Given the description of an element on the screen output the (x, y) to click on. 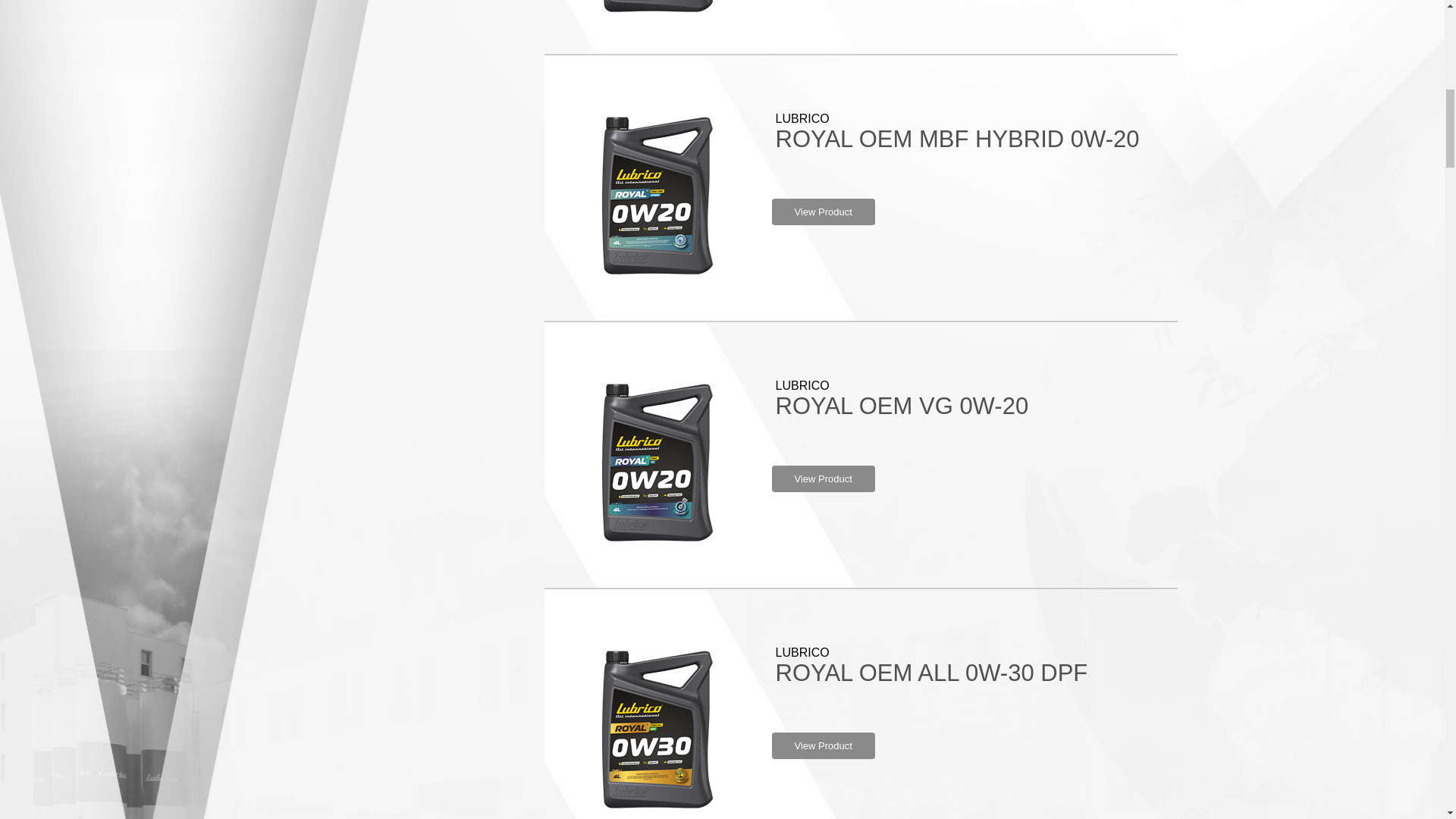
View Product (823, 212)
ROYAL OEM ALL 0W-30 DPF (930, 673)
View Product (823, 479)
ROYAL OEM VG 0W-20 (900, 406)
ROYAL OEM MBF HYBRID 0W-20 (956, 139)
View Product (823, 745)
